Given the description of an element on the screen output the (x, y) to click on. 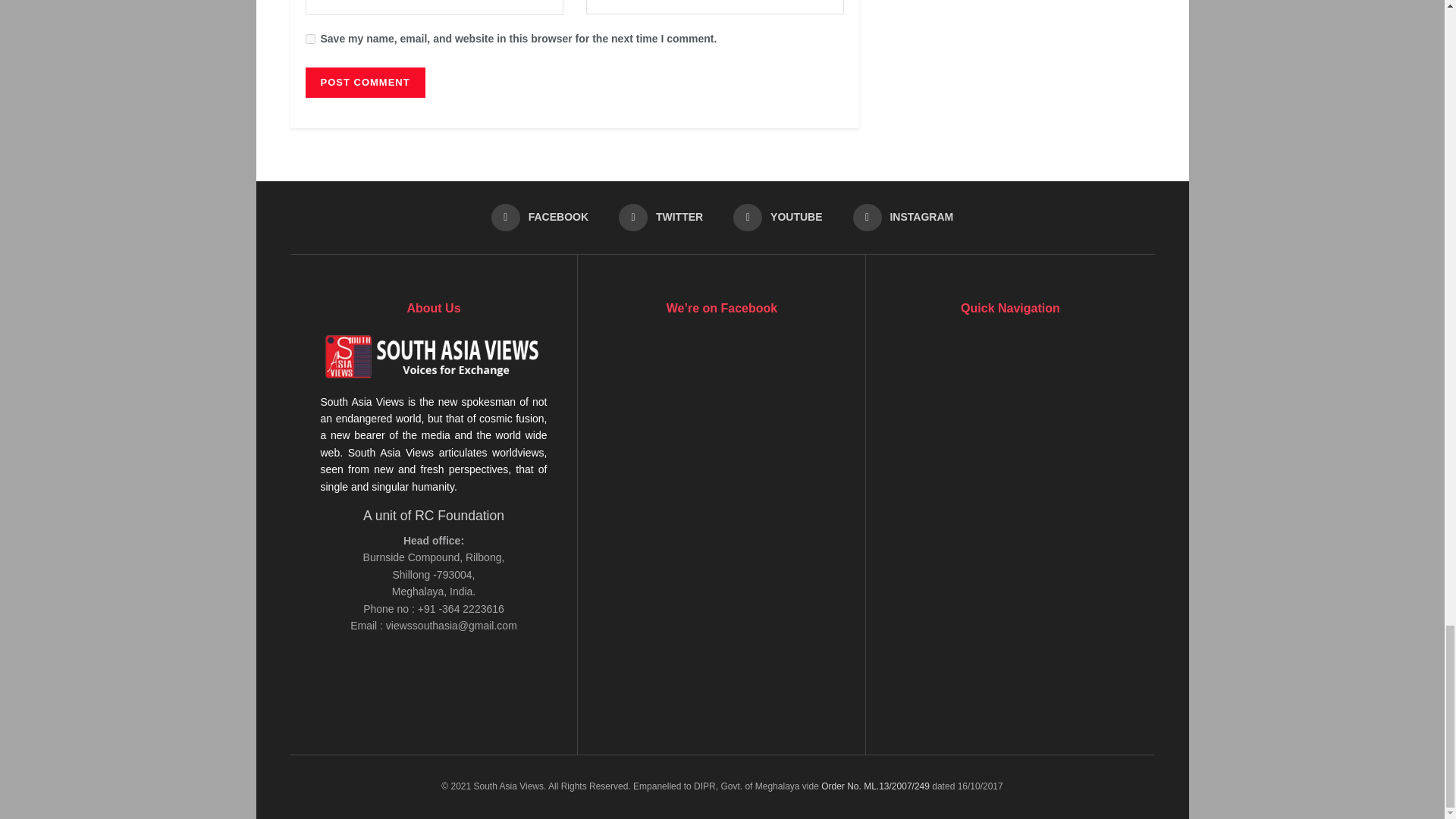
Post Comment (364, 82)
yes (309, 39)
